Given the description of an element on the screen output the (x, y) to click on. 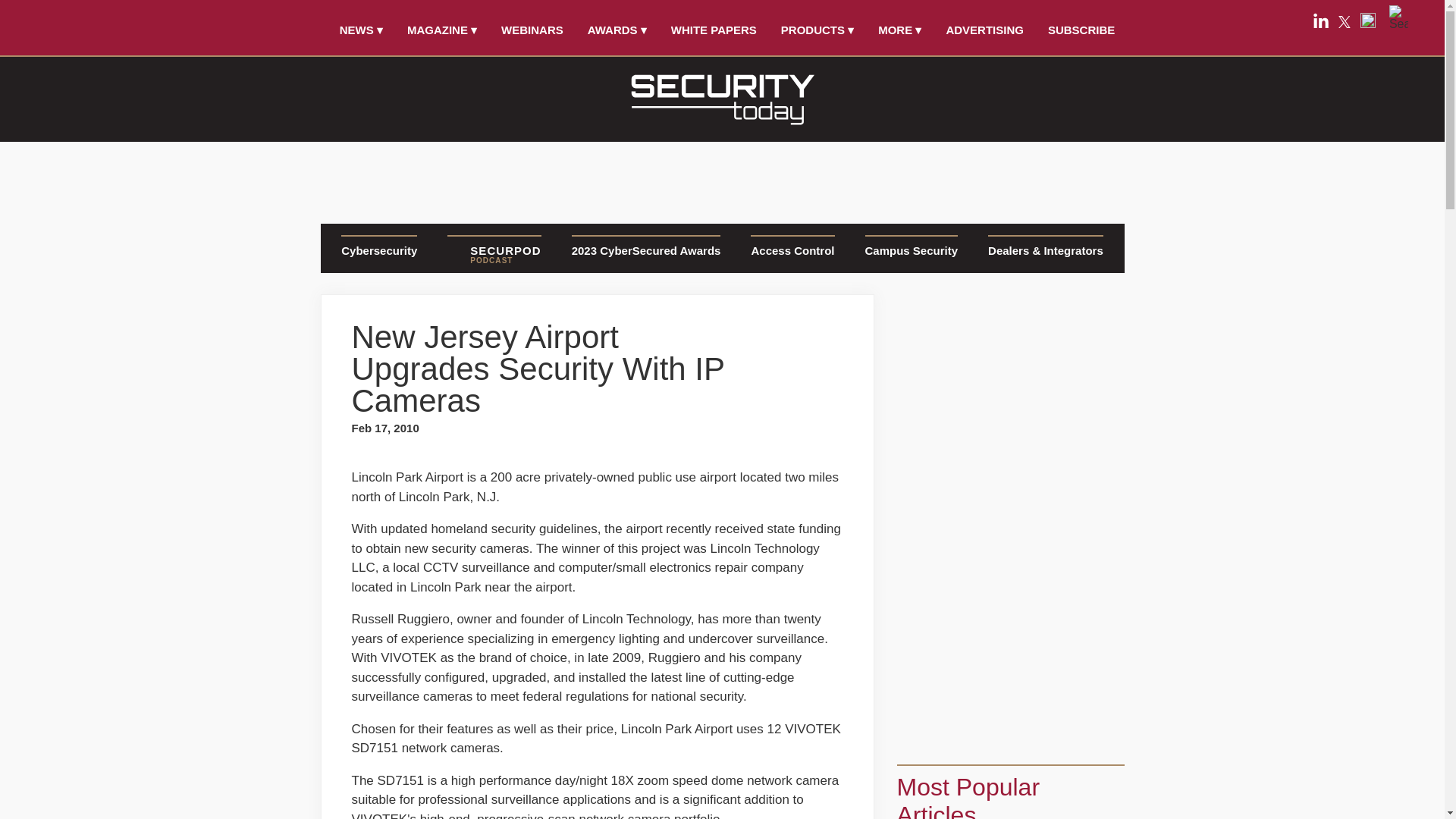
WEBINARS (531, 29)
3rd party ad content (721, 178)
WHITE PAPERS (714, 29)
